Given the description of an element on the screen output the (x, y) to click on. 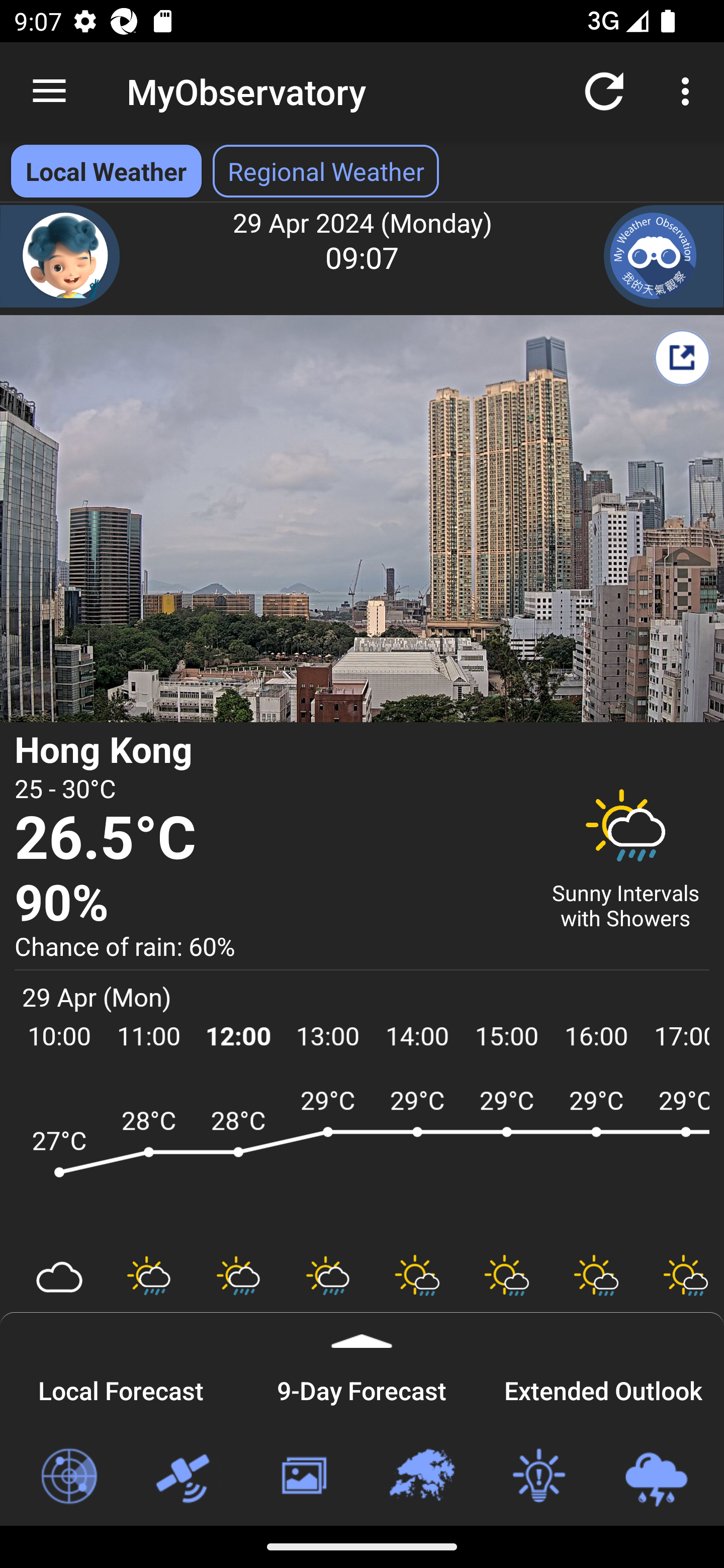
Navigate up (49, 91)
Refresh (604, 90)
More options (688, 90)
Local Weather Local Weather selected (105, 170)
Regional Weather Select Regional Weather (325, 170)
Chatbot (60, 256)
My Weather Observation (663, 256)
Share My Weather Report (681, 357)
26.5°C Temperature
26.5 degree Celsius (270, 839)
90% Relative Humidity
90 percent (270, 903)
ARWF (361, 1160)
Expand (362, 1330)
Local Forecast (120, 1387)
Extended Outlook (603, 1387)
Radar Images (68, 1476)
Satellite Images (185, 1476)
Weather Photos (302, 1476)
Regional Weather (420, 1476)
Weather Tips (537, 1476)
Loc-based Rain & Lightning Forecast (655, 1476)
